Given the description of an element on the screen output the (x, y) to click on. 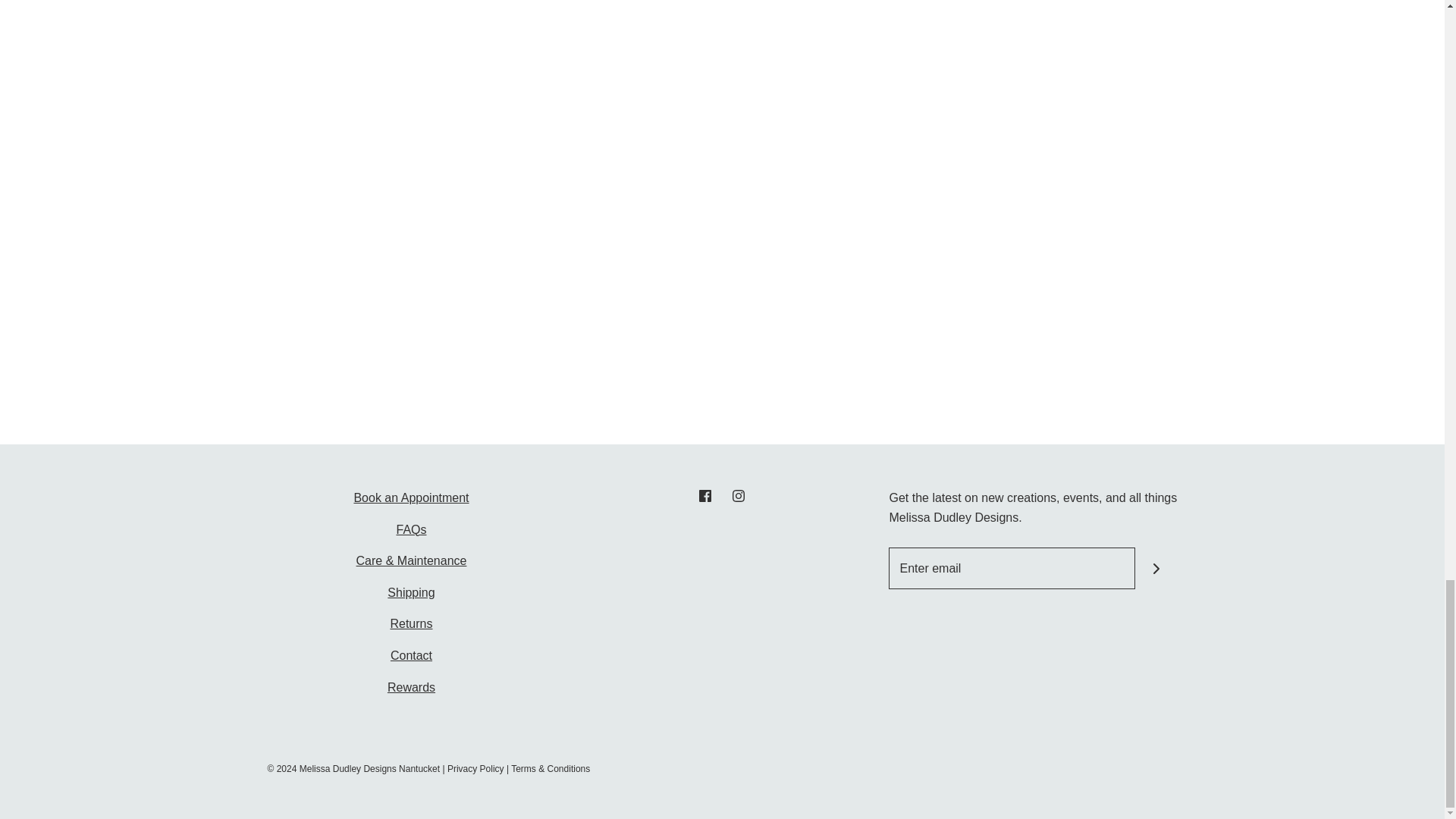
Rewards Club (411, 686)
Shipping (410, 592)
Melissa Dudley Appointments (410, 497)
Returns (411, 623)
Contact (411, 655)
FAQs (411, 529)
